Given the description of an element on the screen output the (x, y) to click on. 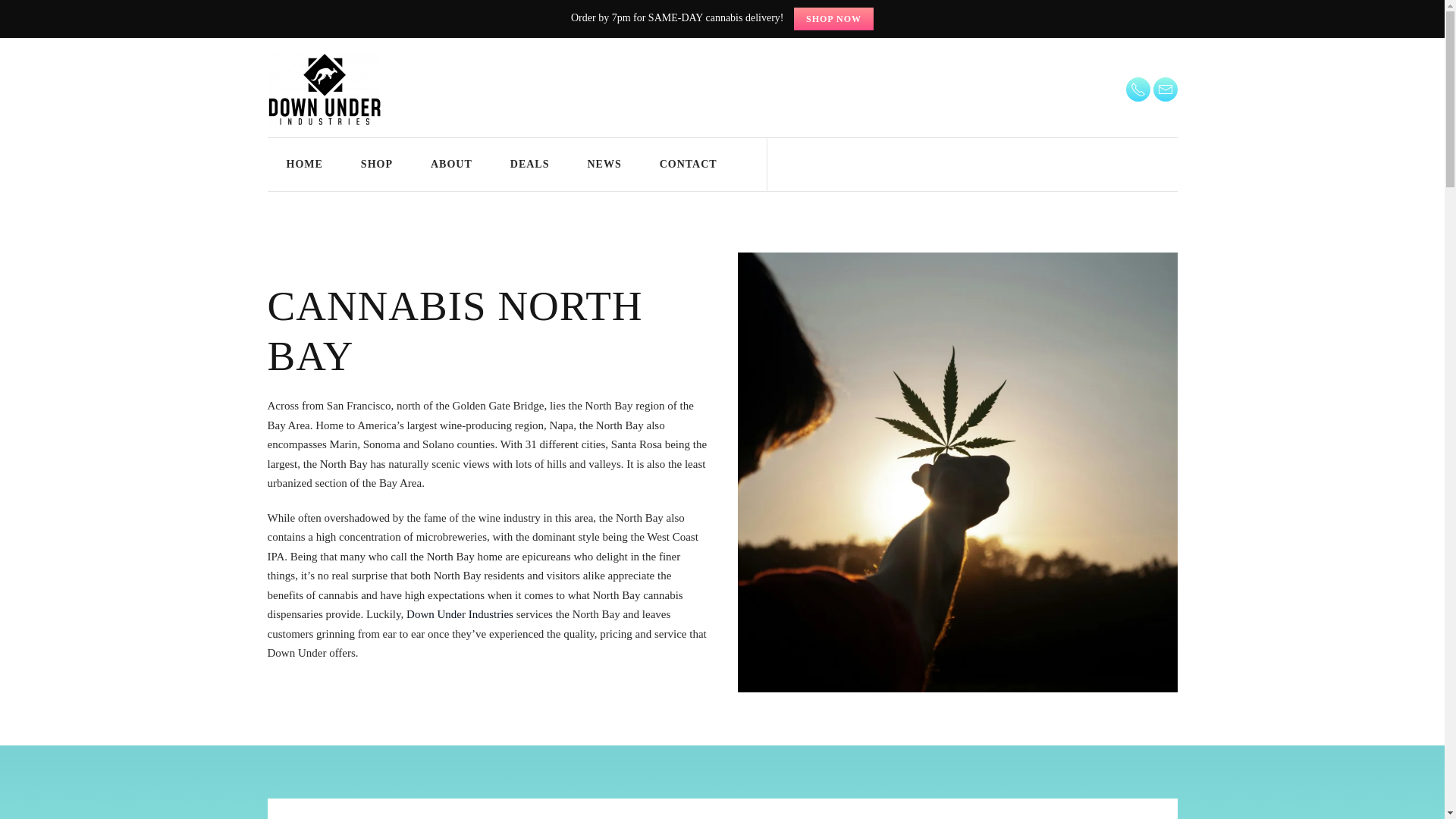
SHOP NOW (833, 18)
SHOP (377, 164)
HOME (303, 164)
